Given the description of an element on the screen output the (x, y) to click on. 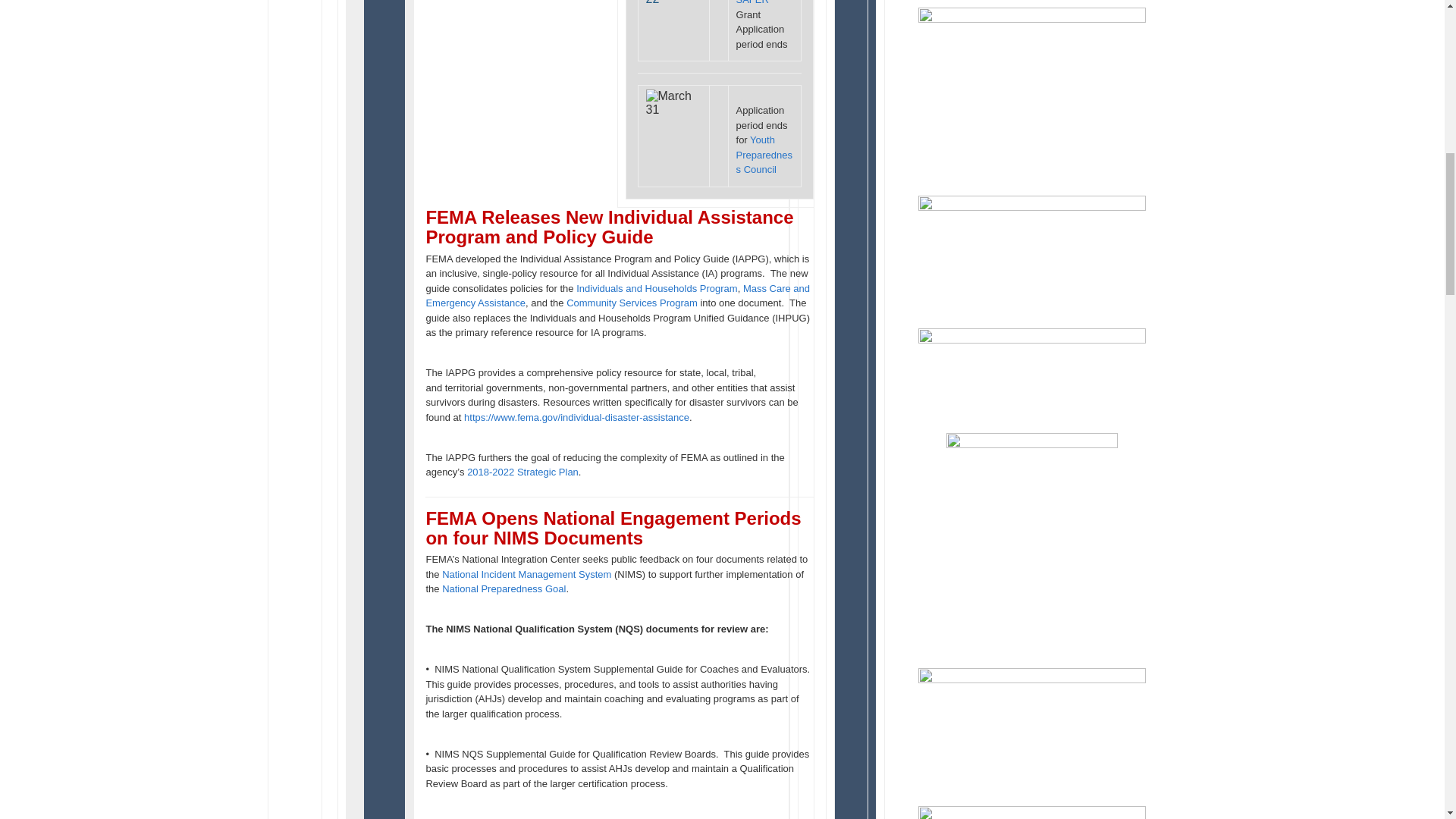
Mass Care and Emergency Assistance (617, 295)
National Incident Management System (526, 573)
Individuals and Households Program (656, 288)
Community Services Program (631, 302)
Youth Preparedness Council (764, 154)
2018-2022 Strategic Plan (522, 471)
SAFER (752, 2)
National Preparedness Goal (504, 588)
